Given the description of an element on the screen output the (x, y) to click on. 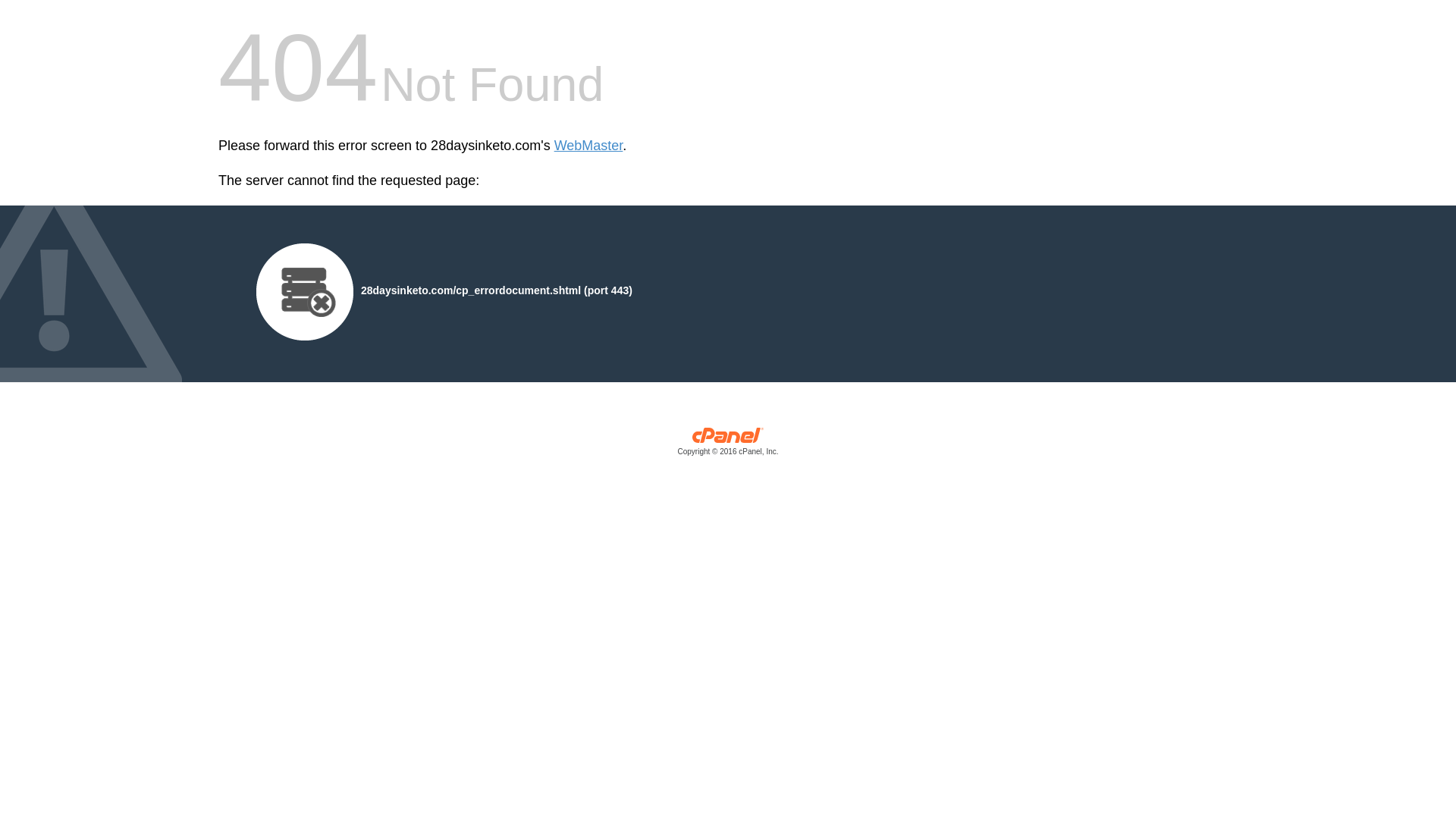
WebMaster Element type: text (588, 145)
